Given the description of an element on the screen output the (x, y) to click on. 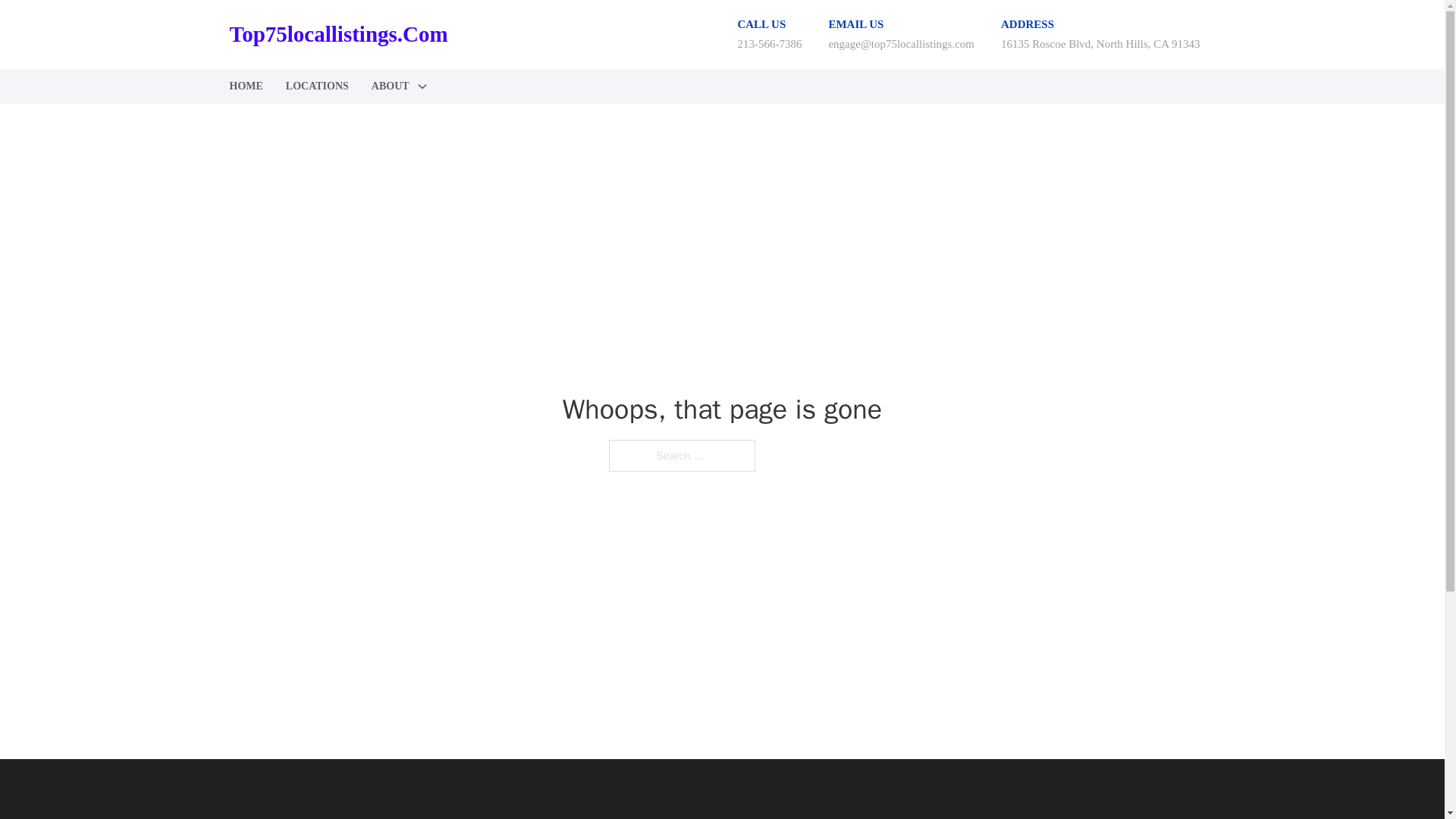
HOME (245, 85)
213-566-7386 (769, 43)
Top75locallistings.Com (337, 34)
LOCATIONS (317, 85)
